Given the description of an element on the screen output the (x, y) to click on. 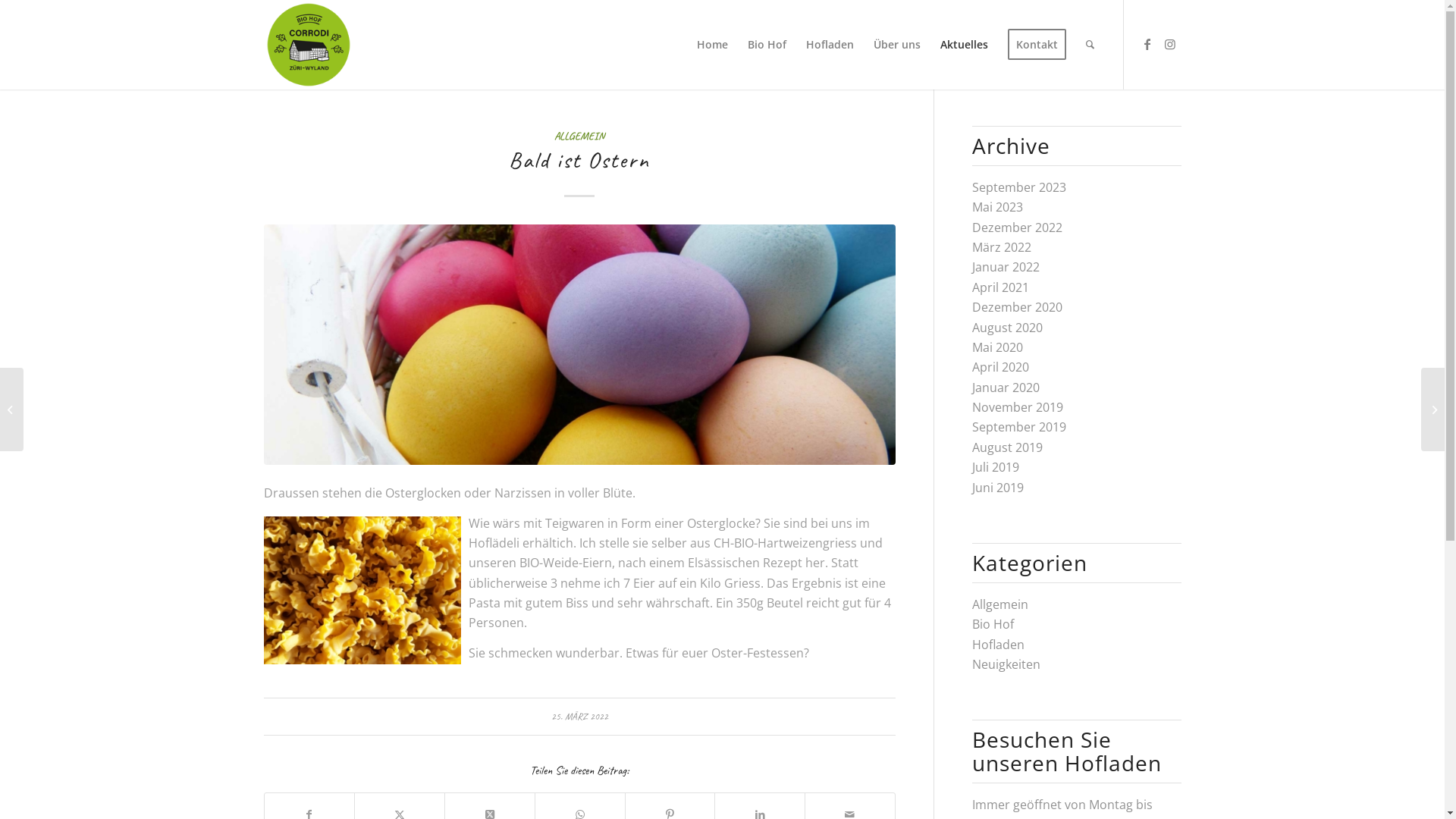
Dezember 2022 Element type: text (1017, 227)
Mai 2020 Element type: text (997, 346)
Januar 2022 Element type: text (1005, 266)
Hofladen Element type: text (829, 44)
logo_biohof_gorrodi_gruen_156 Element type: hover (308, 44)
August 2019 Element type: text (1007, 447)
Neuigkeiten Element type: text (1006, 663)
April 2021 Element type: text (1000, 287)
Mai 2023 Element type: text (997, 206)
Dezember 2020 Element type: text (1017, 306)
August 2020 Element type: text (1007, 327)
Juni 2019 Element type: text (997, 487)
Januar 2020 Element type: text (1005, 387)
Instagram Element type: hover (1169, 43)
Home Element type: text (712, 44)
Allgemein Element type: text (1000, 604)
Kontakt Element type: text (1036, 44)
September 2019 Element type: text (1019, 426)
September 2023 Element type: text (1019, 186)
Facebook Element type: hover (1146, 43)
ALLGEMEIN Element type: text (579, 135)
Bio Hof Element type: text (766, 44)
Aktuelles Element type: text (963, 44)
Hofladen Element type: text (998, 644)
Bio Hof Element type: text (992, 623)
April 2020 Element type: text (1000, 366)
Juli 2019 Element type: text (995, 466)
November 2019 Element type: text (1017, 406)
biohof-corrodi-eier-ostern Element type: hover (579, 344)
